Given the description of an element on the screen output the (x, y) to click on. 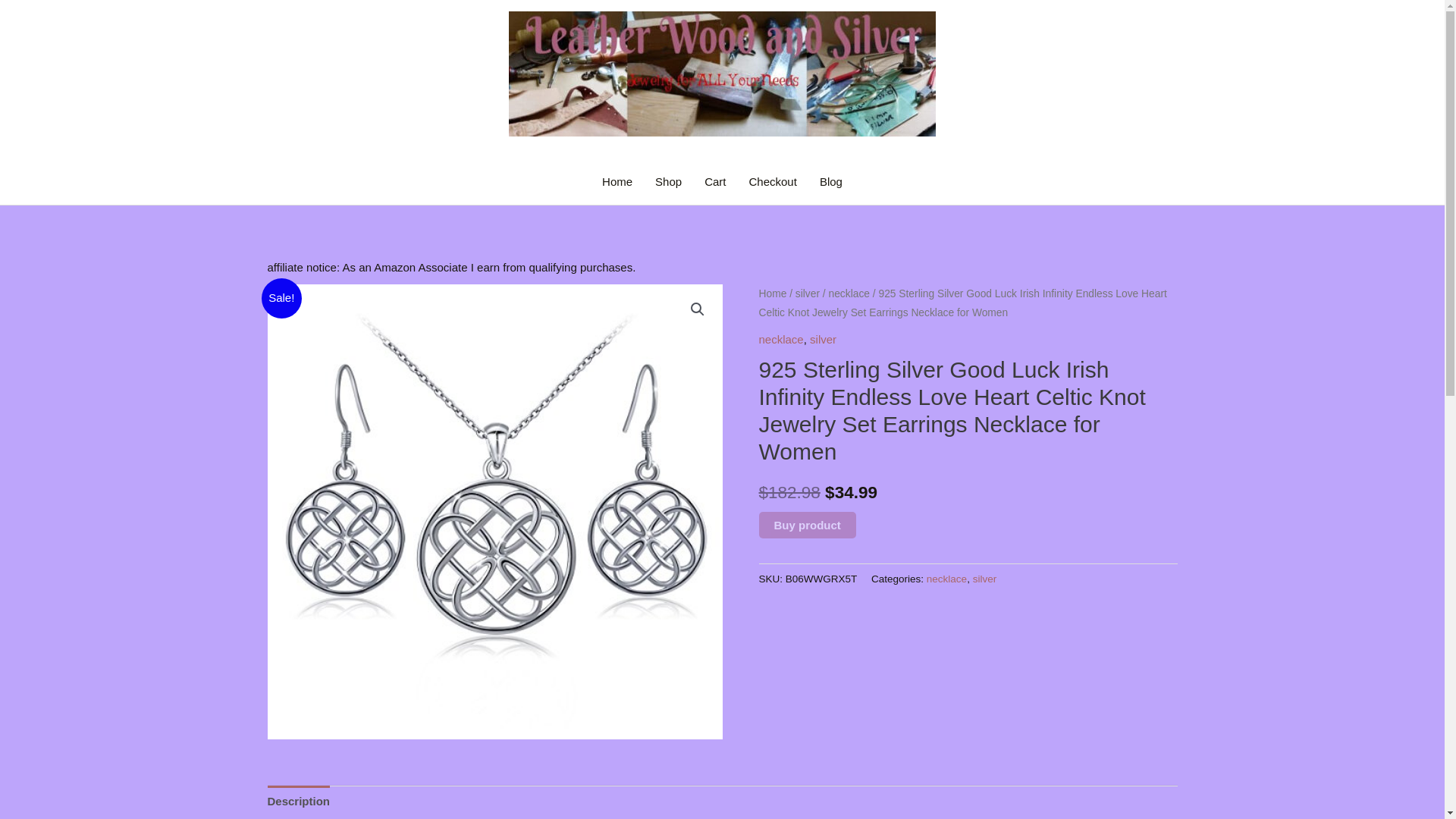
Shop (668, 181)
Description (298, 801)
Home (617, 181)
necklace (946, 578)
silver (984, 578)
necklace (780, 338)
silver (822, 338)
Buy product (807, 524)
silver (806, 293)
Home (772, 293)
Checkout (772, 181)
Cart (714, 181)
necklace (848, 293)
Blog (830, 181)
